Given the description of an element on the screen output the (x, y) to click on. 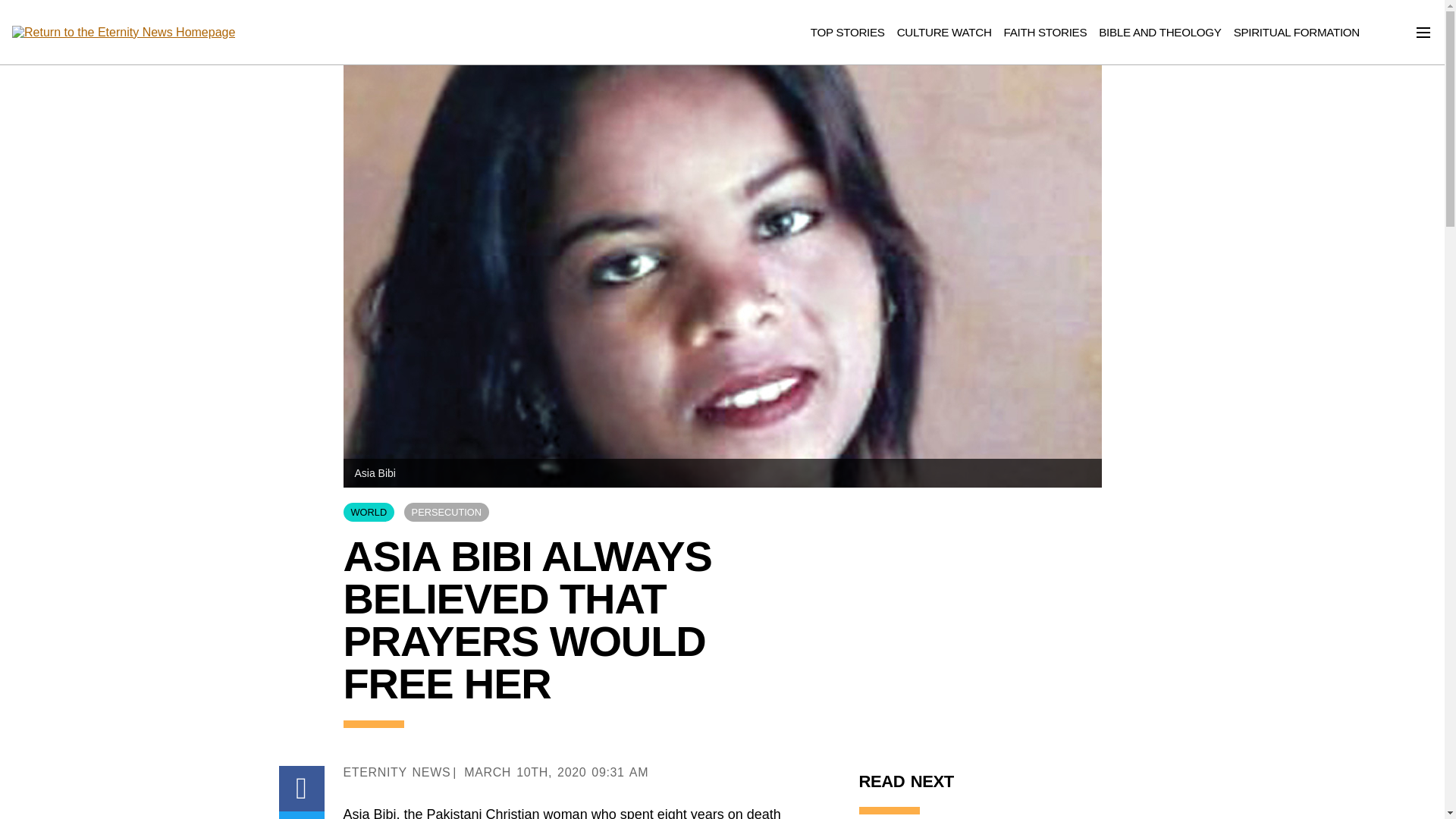
TOP STORIES (847, 32)
FAITH STORIES (1045, 32)
WORLD (368, 511)
Share on Facebook (301, 788)
BIBLE AND THEOLOGY (1160, 32)
CULTURE WATCH (943, 32)
PERSECUTION (446, 511)
Return to the Eternity News Homepage (122, 32)
SPIRITUAL FORMATION (1296, 32)
Share on Twitter (301, 815)
